Given the description of an element on the screen output the (x, y) to click on. 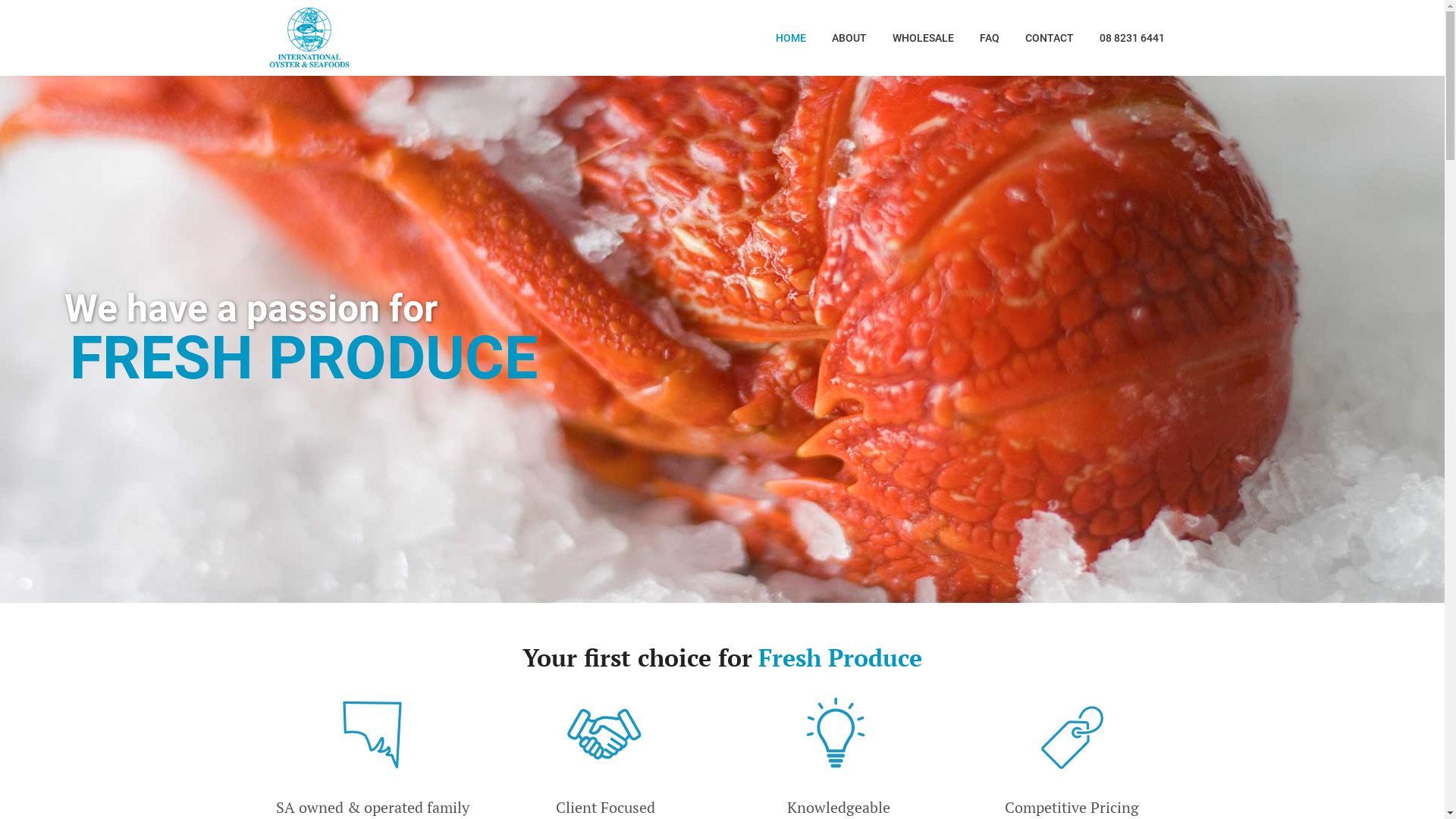
FAQ Element type: text (988, 37)
WHOLESALE Element type: text (922, 37)
ABOUT Element type: text (849, 37)
international-oyster-icon_competitive-pricing Element type: hover (1071, 734)
international-oyster-icon_sa-owned Element type: hover (371, 734)
international-oyster-icon_knowledgable Element type: hover (838, 734)
08 8231 6441 Element type: text (1130, 37)
CONTACT Element type: text (1048, 37)
international-oyster-icon_client-focused Element type: hover (605, 734)
HOME Element type: text (790, 37)
